Given the description of an element on the screen output the (x, y) to click on. 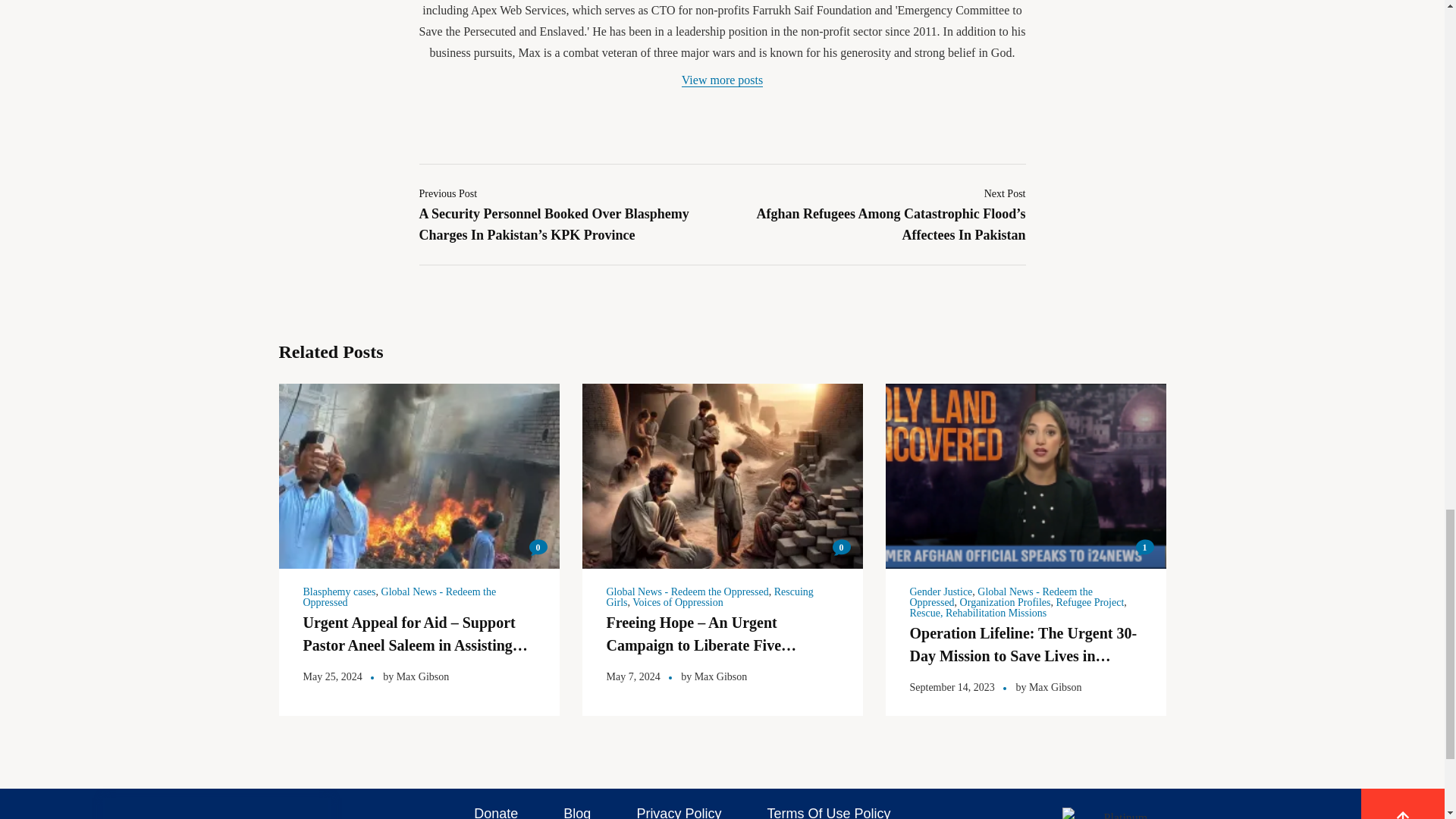
Rescuing Girls (710, 597)
May 25, 2024 (332, 676)
View more posts (721, 79)
Global News - Redeem the Oppressed (687, 591)
Global News - Redeem the Oppressed (399, 597)
Max Gibson (422, 676)
Voices of Oppression (677, 602)
Blasphemy cases (338, 591)
0 (841, 547)
0 (538, 547)
